Given the description of an element on the screen output the (x, y) to click on. 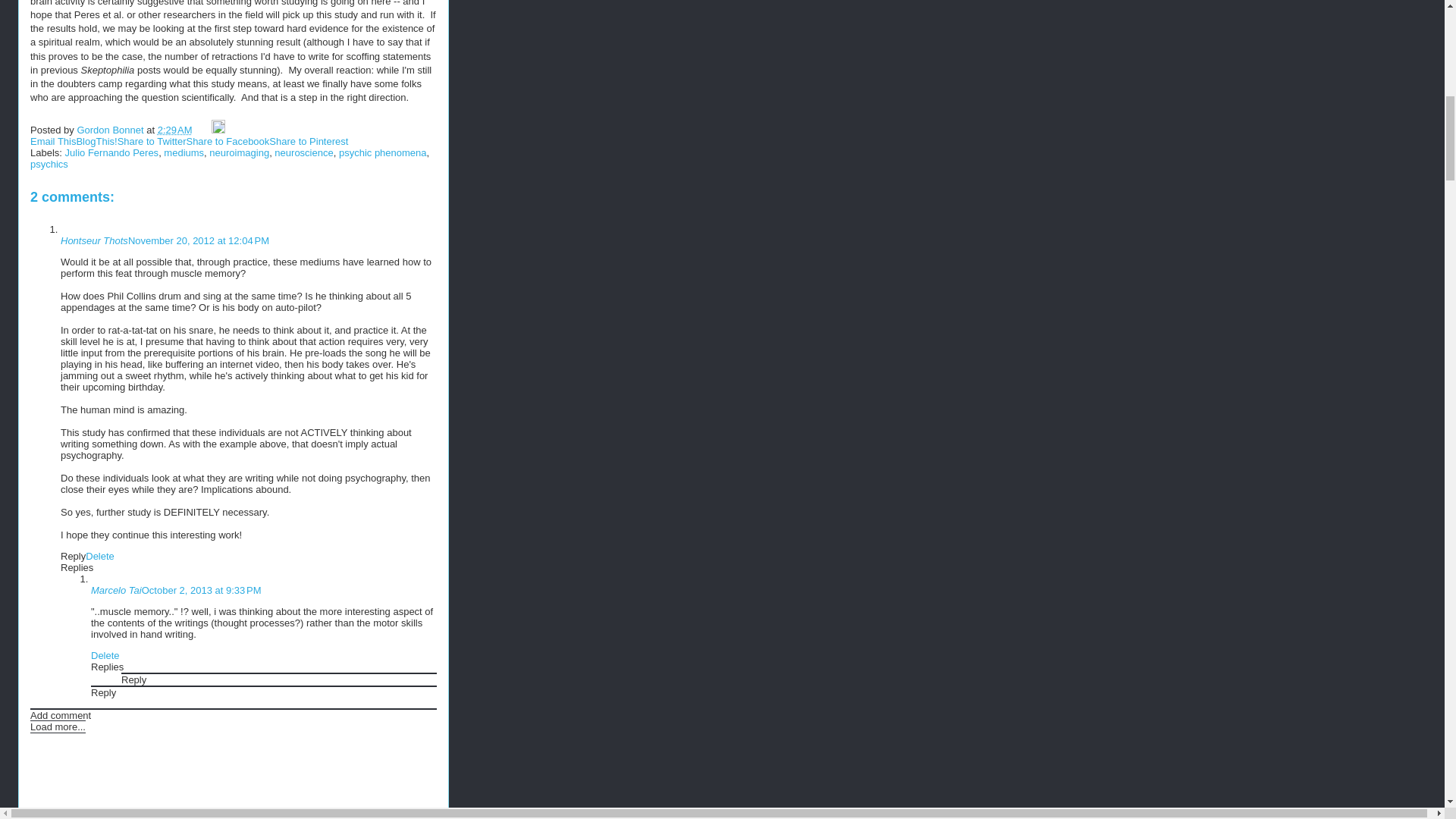
Replies (77, 567)
Email This (52, 141)
BlogThis! (95, 141)
mediums (183, 152)
Share to Pinterest (308, 141)
Email This (52, 141)
Edit Post (218, 129)
BlogThis! (95, 141)
Delete (104, 655)
Email Post (203, 129)
Reply (73, 555)
Share to Facebook (227, 141)
Add comment (60, 715)
